Given the description of an element on the screen output the (x, y) to click on. 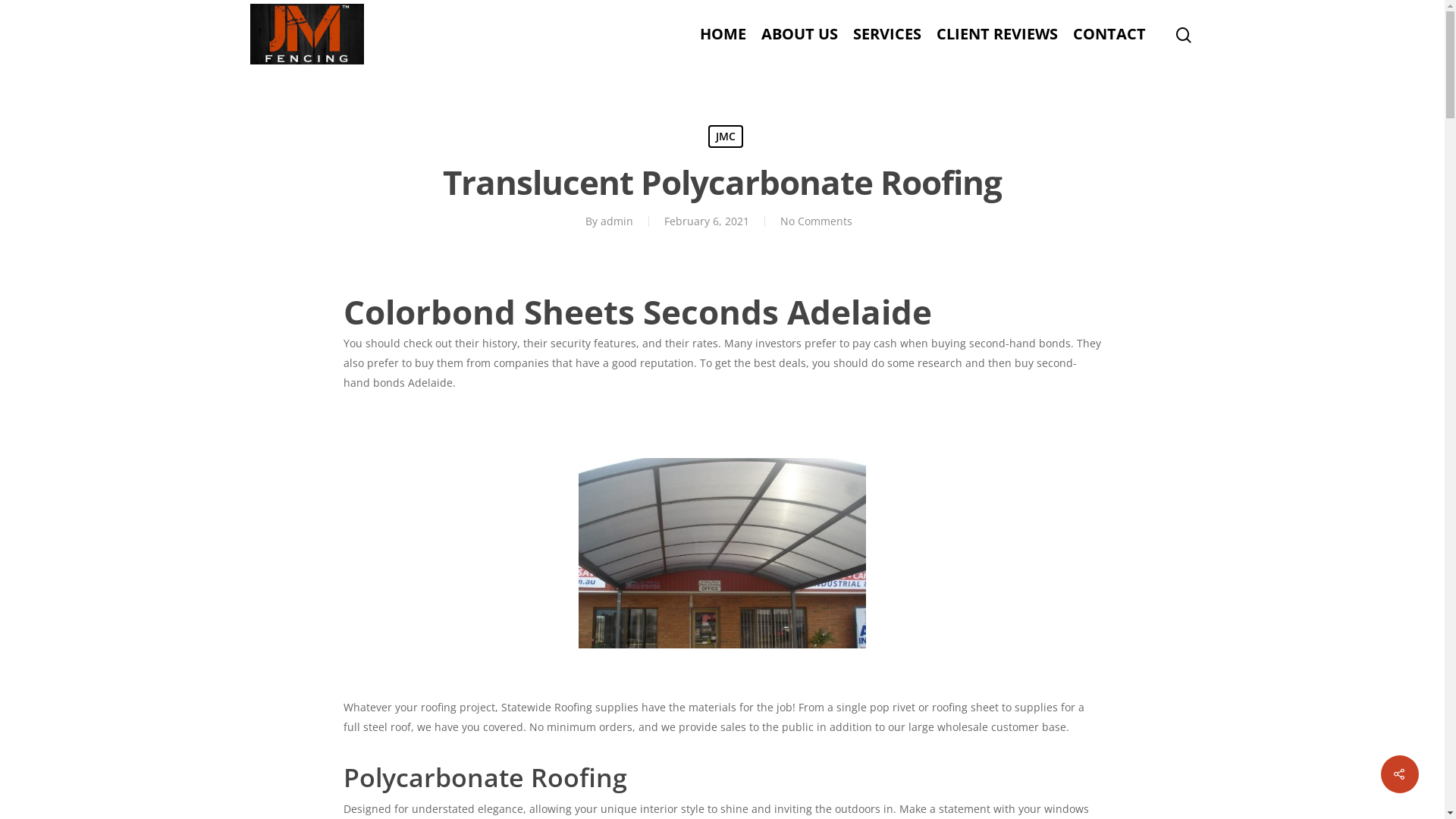
CLIENT REVIEWS Element type: text (996, 33)
admin Element type: text (616, 220)
HOME Element type: text (722, 33)
SERVICES Element type: text (887, 33)
JMC Element type: text (725, 136)
ABOUT US Element type: text (799, 33)
CONTACT Element type: text (1109, 33)
No Comments Element type: text (815, 220)
